Given the description of an element on the screen output the (x, y) to click on. 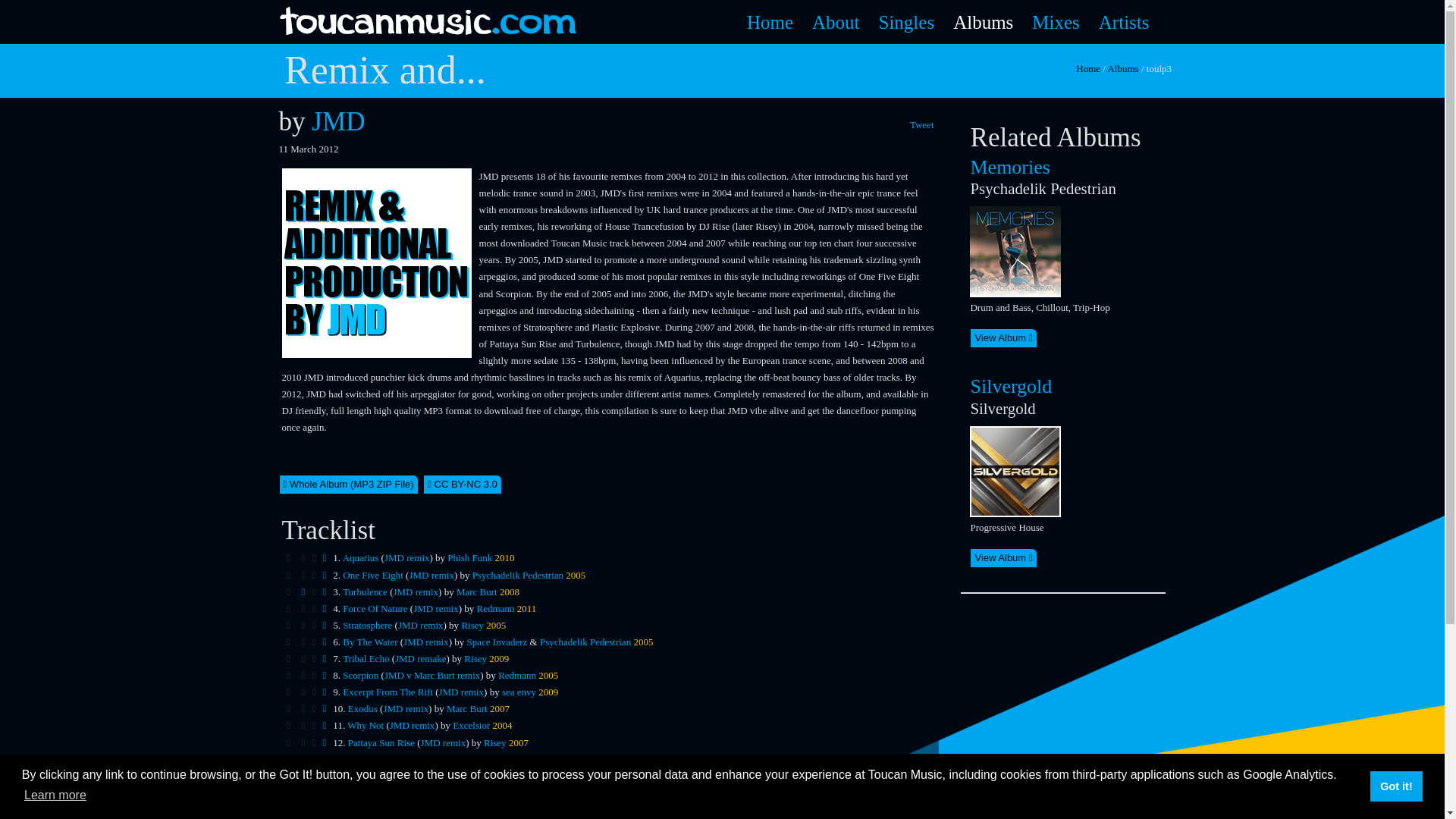
Albums (982, 22)
Marc Burt (477, 591)
About (836, 22)
Risey (472, 624)
Tweet (923, 124)
Albums (1122, 68)
JMD remix (431, 574)
JMD remix (420, 624)
By The Water (369, 641)
JMD remix (425, 641)
Home (1087, 68)
JMD (338, 121)
Got it! (1396, 786)
JMD remix (415, 591)
Home (770, 22)
